Given the description of an element on the screen output the (x, y) to click on. 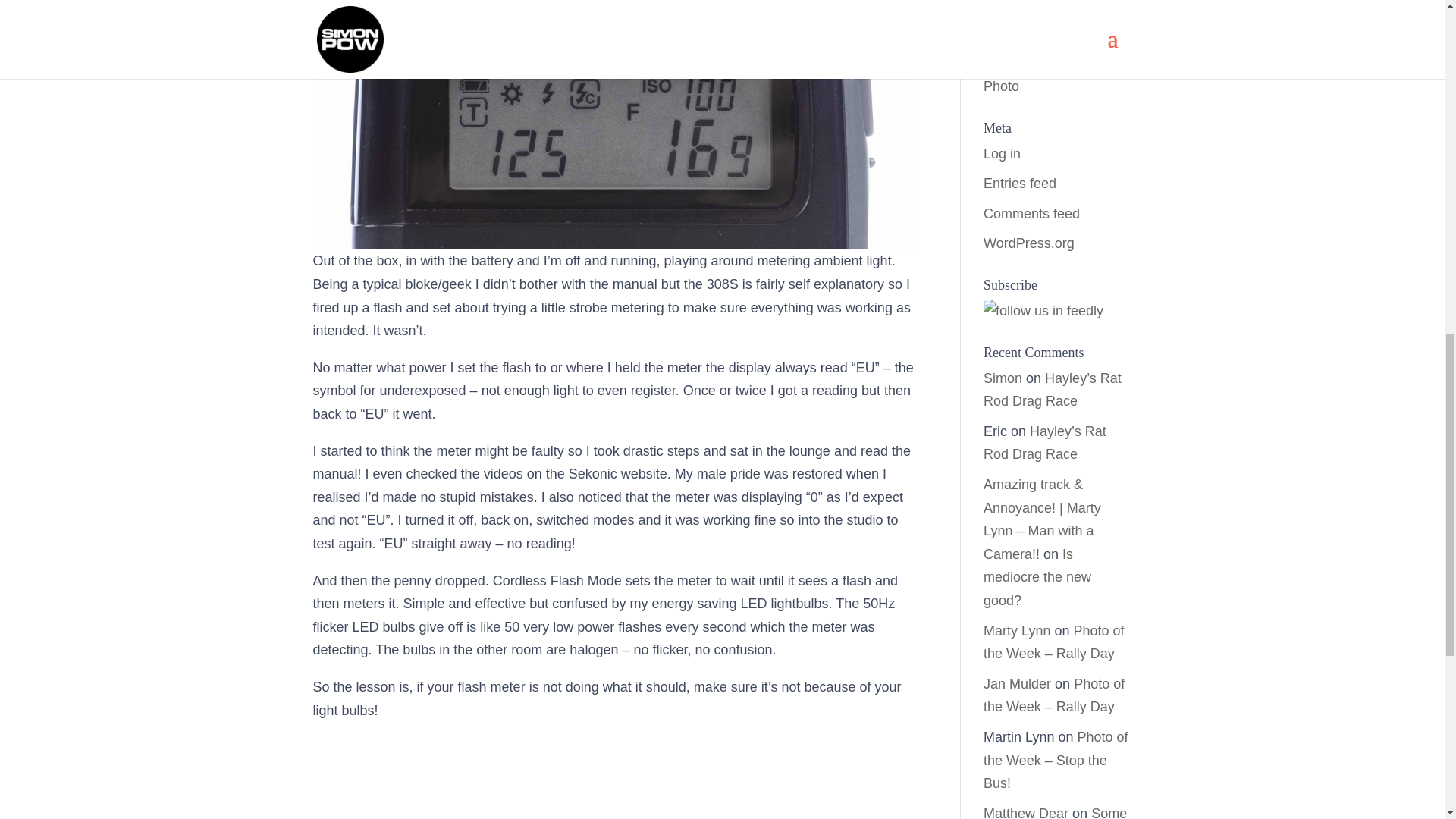
Log in (1002, 153)
WordPress.org (1029, 242)
Comments feed (1032, 213)
Simon (1003, 378)
Marty Lynn (1016, 630)
Is mediocre the new good? (1037, 577)
Entries feed (1020, 183)
Photo (1001, 86)
Jan Mulder (1017, 683)
